Given the description of an element on the screen output the (x, y) to click on. 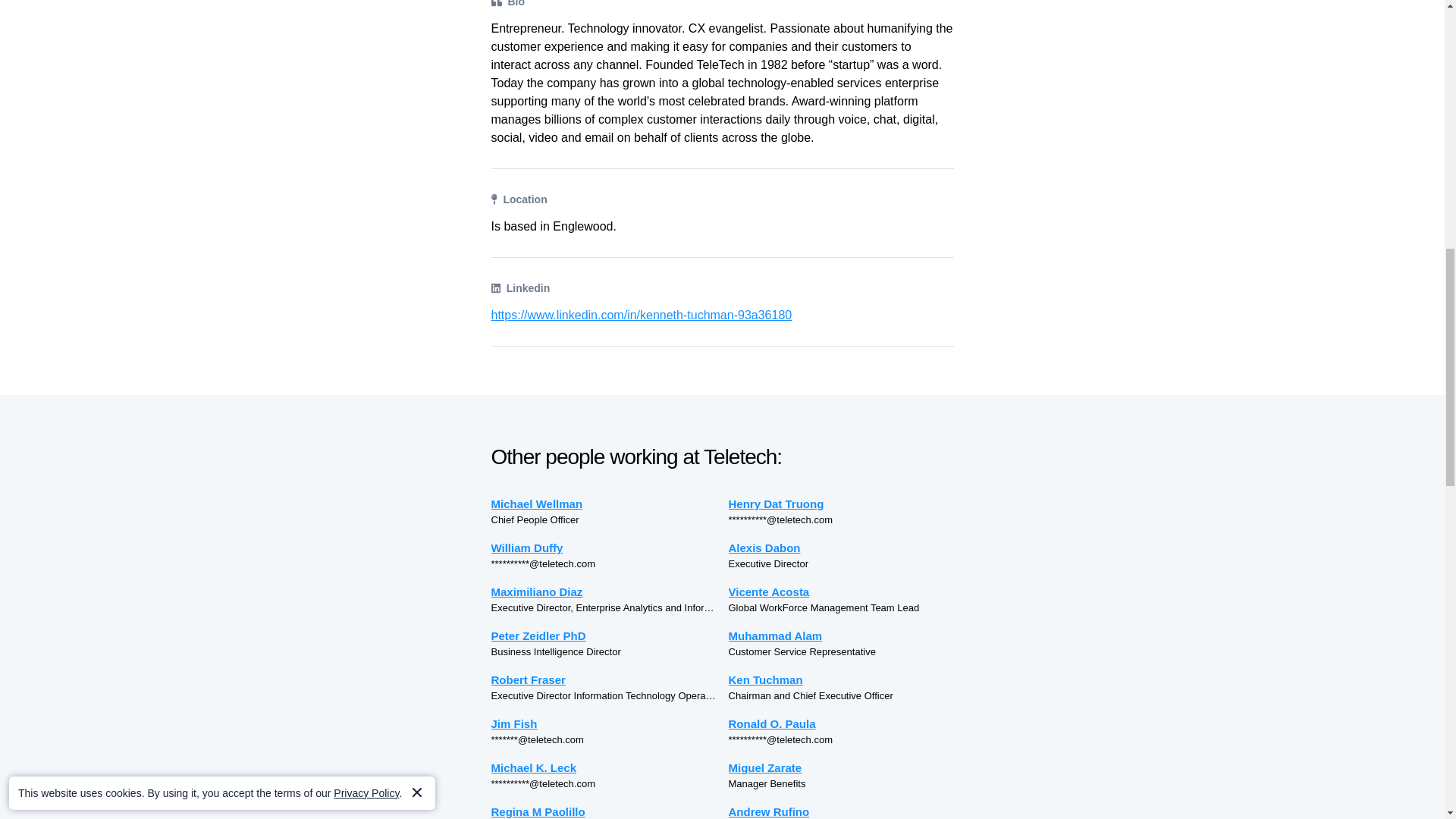
Alexis Dabon (840, 547)
Andrew Rufino (840, 811)
Miguel Zarate (840, 767)
Michael Wellman (604, 503)
Henry Dat Truong (840, 503)
Ken Tuchman (840, 679)
Jim Fish (604, 723)
Muhammad Alam (840, 635)
Robert Fraser (604, 679)
Ronald O. Paula (840, 723)
Maximiliano Diaz (604, 591)
Michael K. Leck (604, 767)
William Duffy (604, 547)
Peter Zeidler PhD (604, 635)
Regina M Paolillo (604, 811)
